Given the description of an element on the screen output the (x, y) to click on. 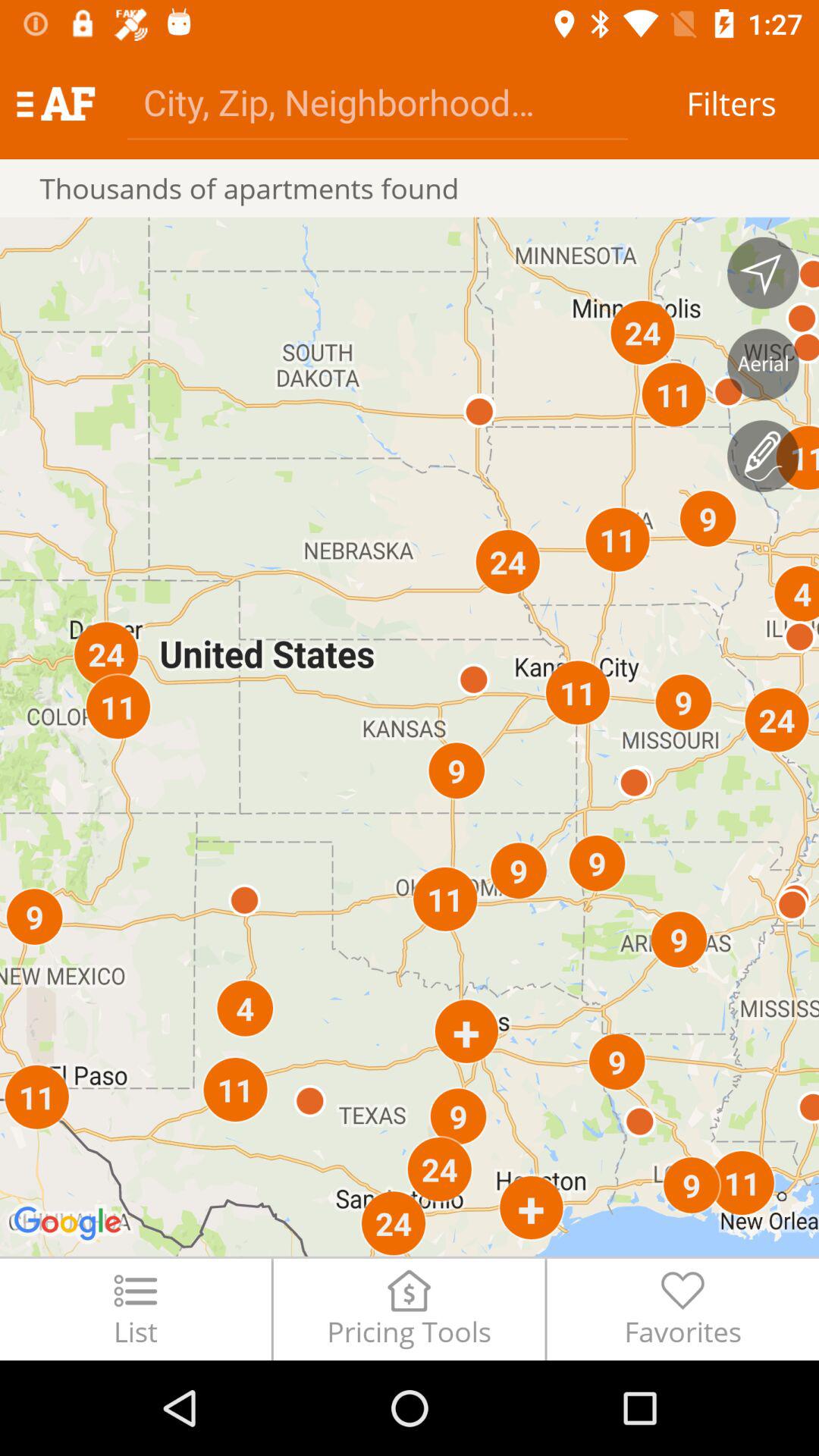
open pricing tools (408, 1309)
